Given the description of an element on the screen output the (x, y) to click on. 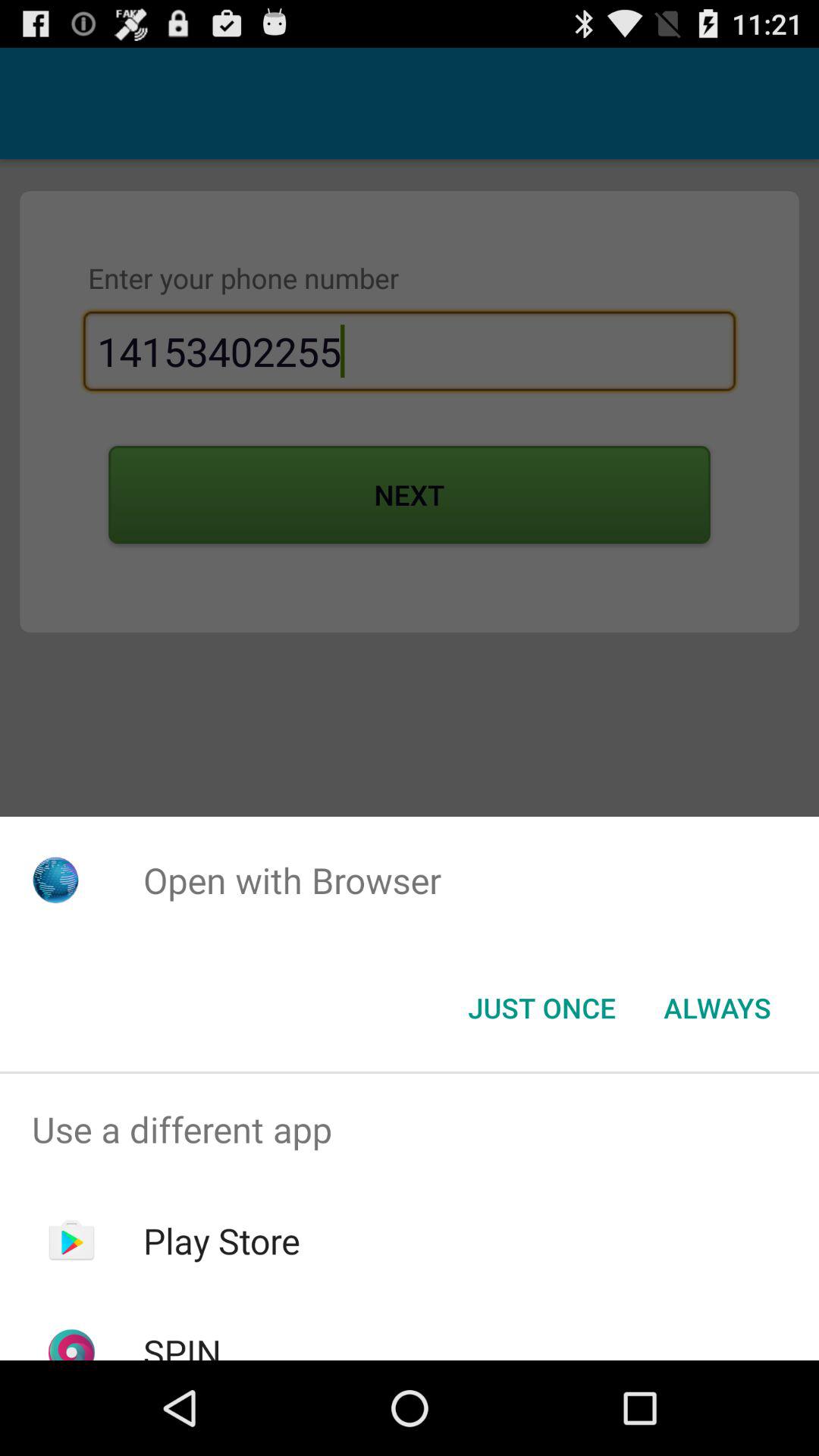
open icon below the open with browser icon (541, 1007)
